Given the description of an element on the screen output the (x, y) to click on. 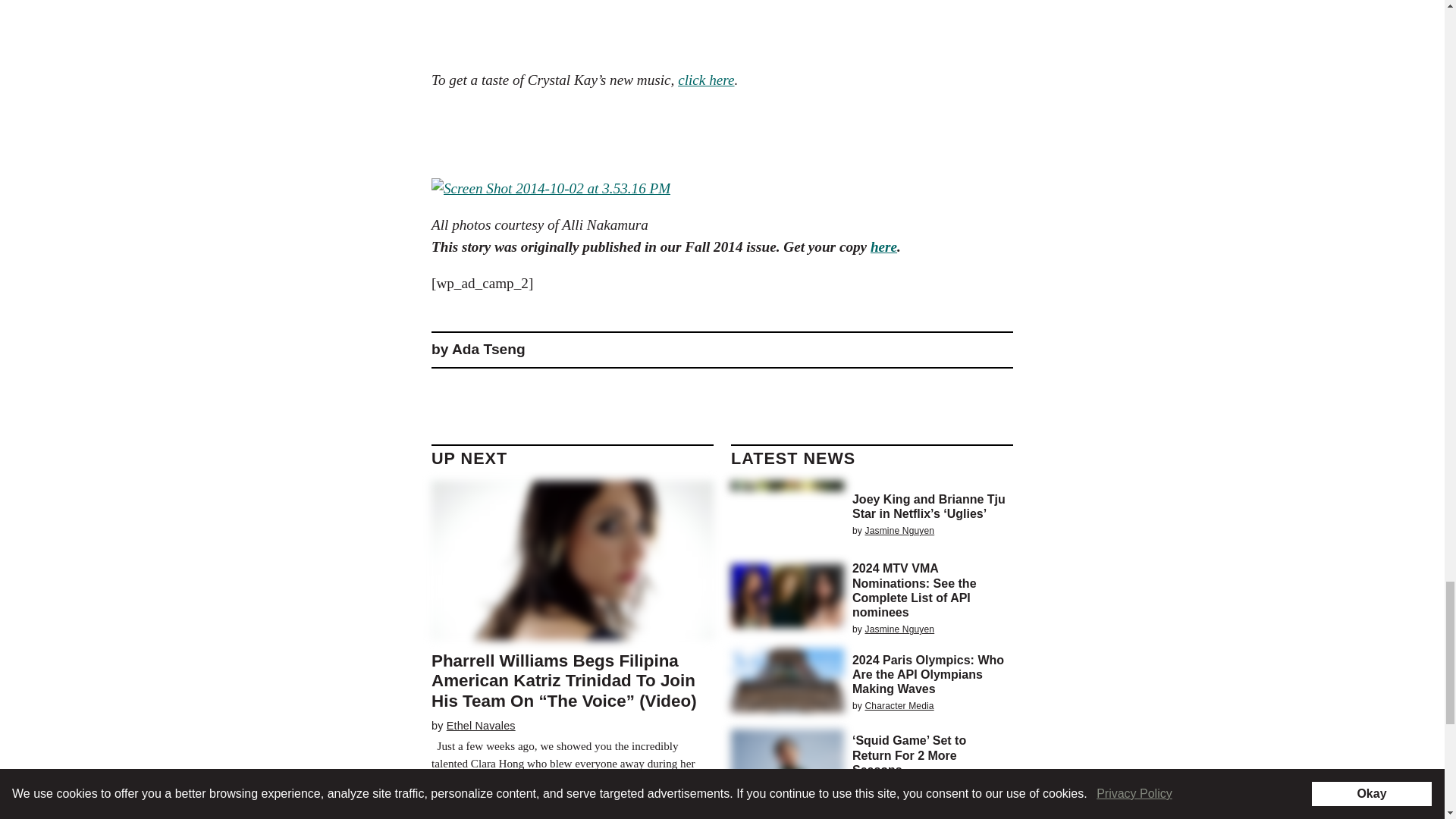
here (883, 246)
click here (705, 79)
Ada Tseng (488, 349)
